Given the description of an element on the screen output the (x, y) to click on. 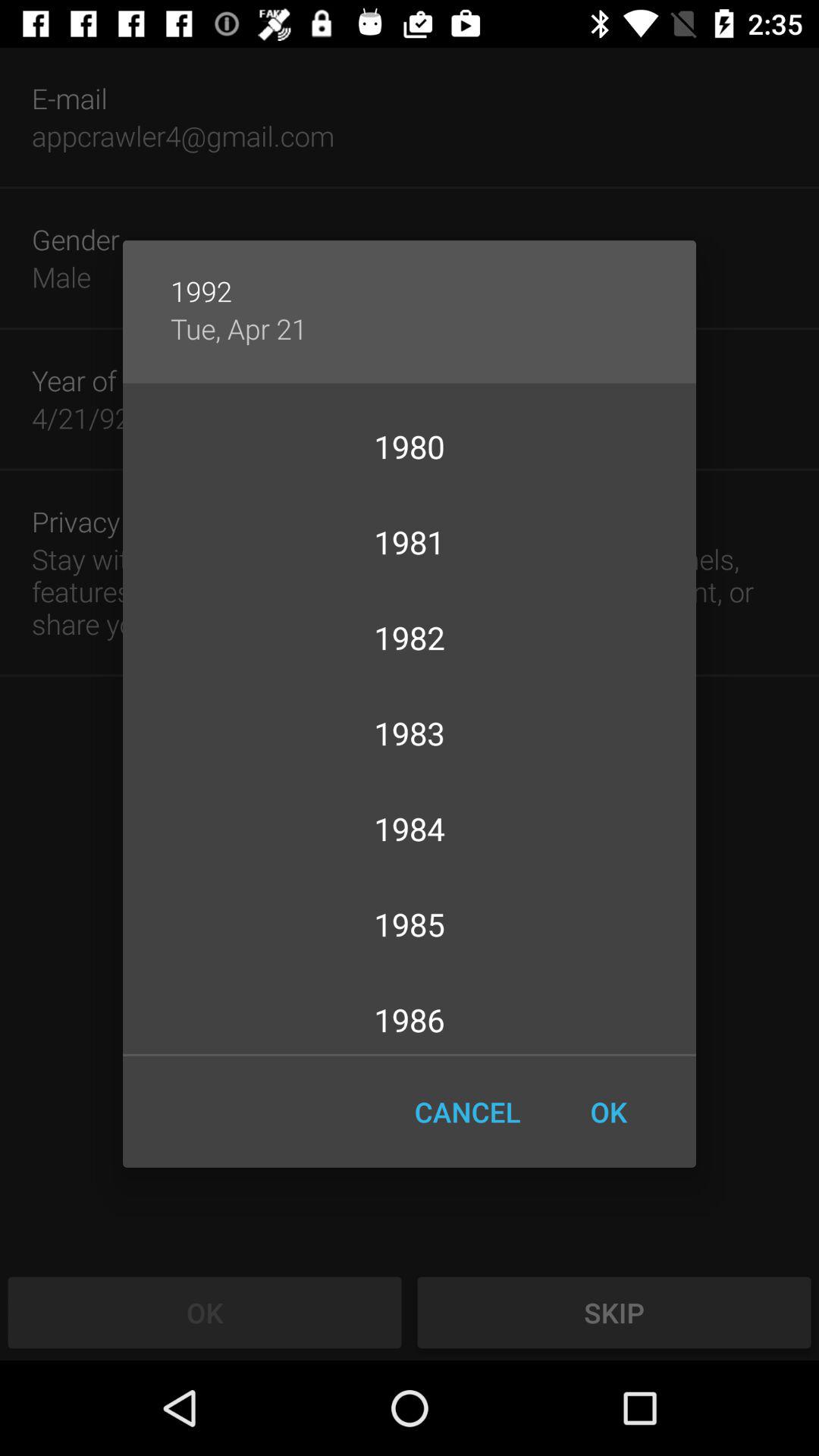
select the button to the left of the ok button (467, 1111)
